Given the description of an element on the screen output the (x, y) to click on. 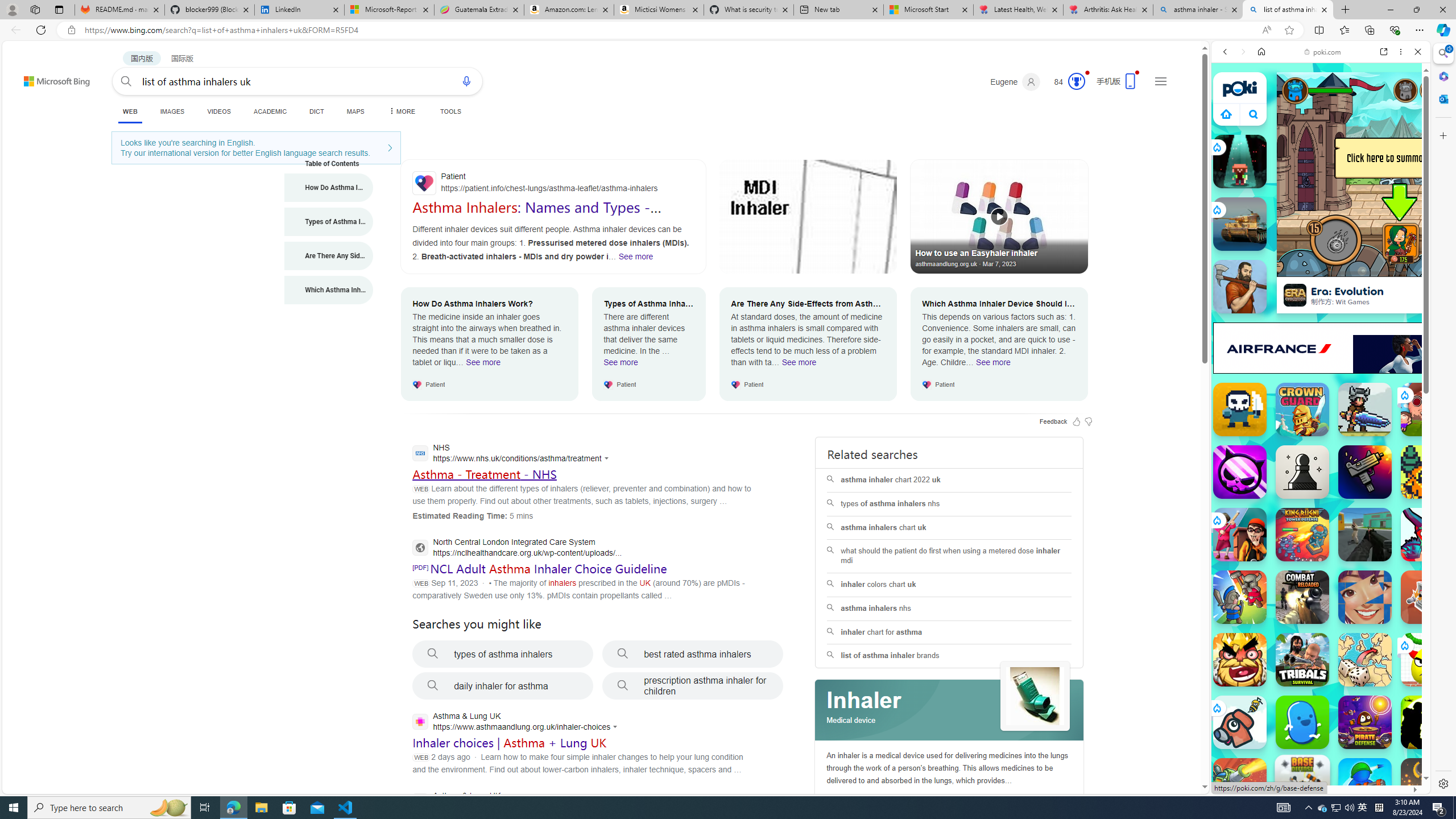
Pirate Defense Pirate Defense (1364, 722)
Eat the world Eat the world (1427, 409)
Hills of Steel Hills of Steel poki.com (1264, 548)
Animation (1086, 72)
inhaler colors chart uk (949, 584)
Fury Wars (1239, 471)
Classic Chess Classic Chess (1302, 471)
Day of Meat: Radiation (1364, 471)
Two Player Games (1320, 323)
Era: Evolution (1295, 295)
Day of Meat: Castle Day of Meat: Castle (1239, 409)
Jigsaw Gems Jigsaw Gems (1364, 597)
